Given the description of an element on the screen output the (x, y) to click on. 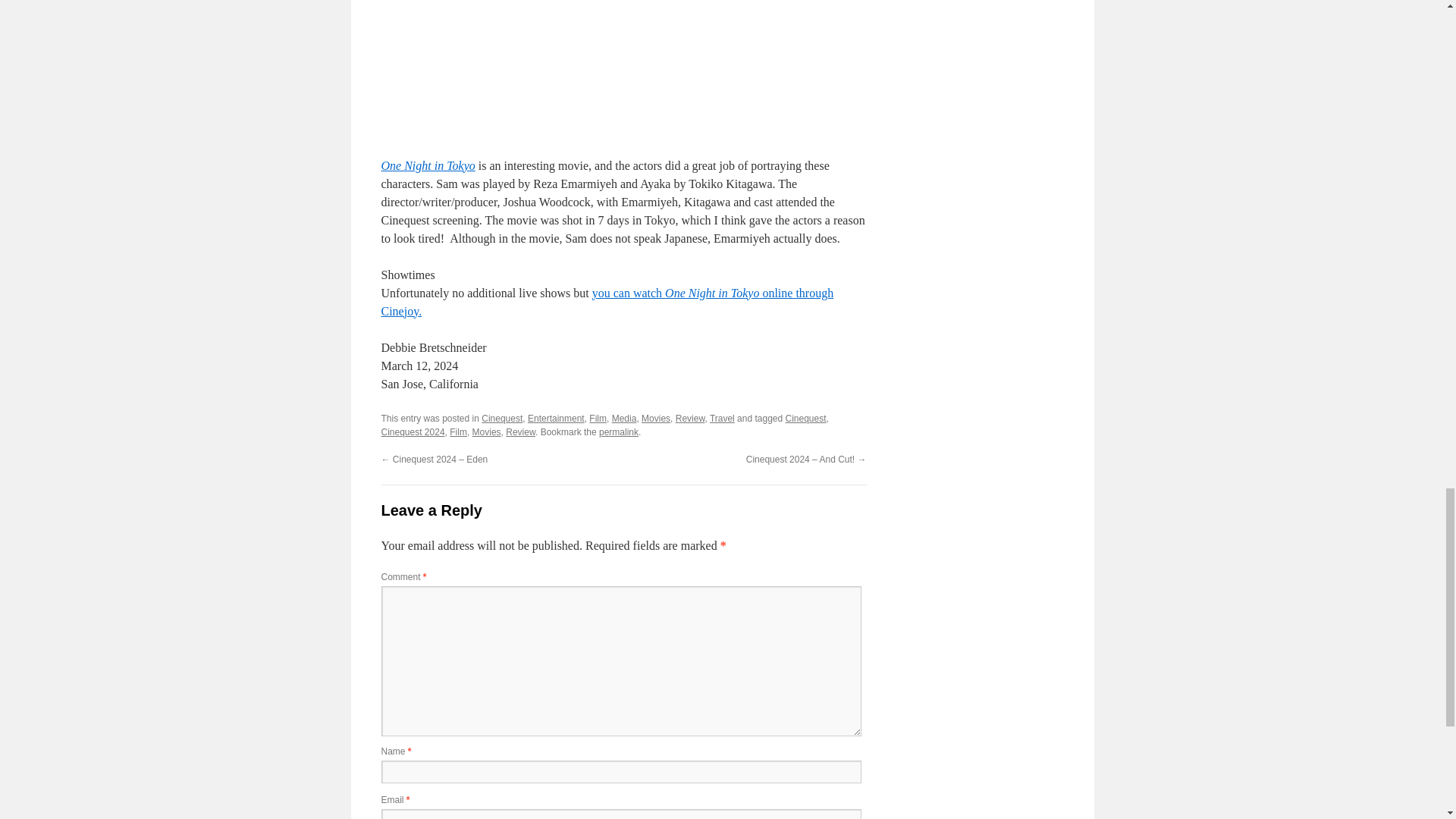
Film (598, 418)
Review (520, 431)
Cinequest 2024 (412, 431)
One Night in Tokyo (427, 164)
Cinequest (501, 418)
Media (624, 418)
Movies (655, 418)
Film (458, 431)
Entertainment (556, 418)
Travel (722, 418)
